Given the description of an element on the screen output the (x, y) to click on. 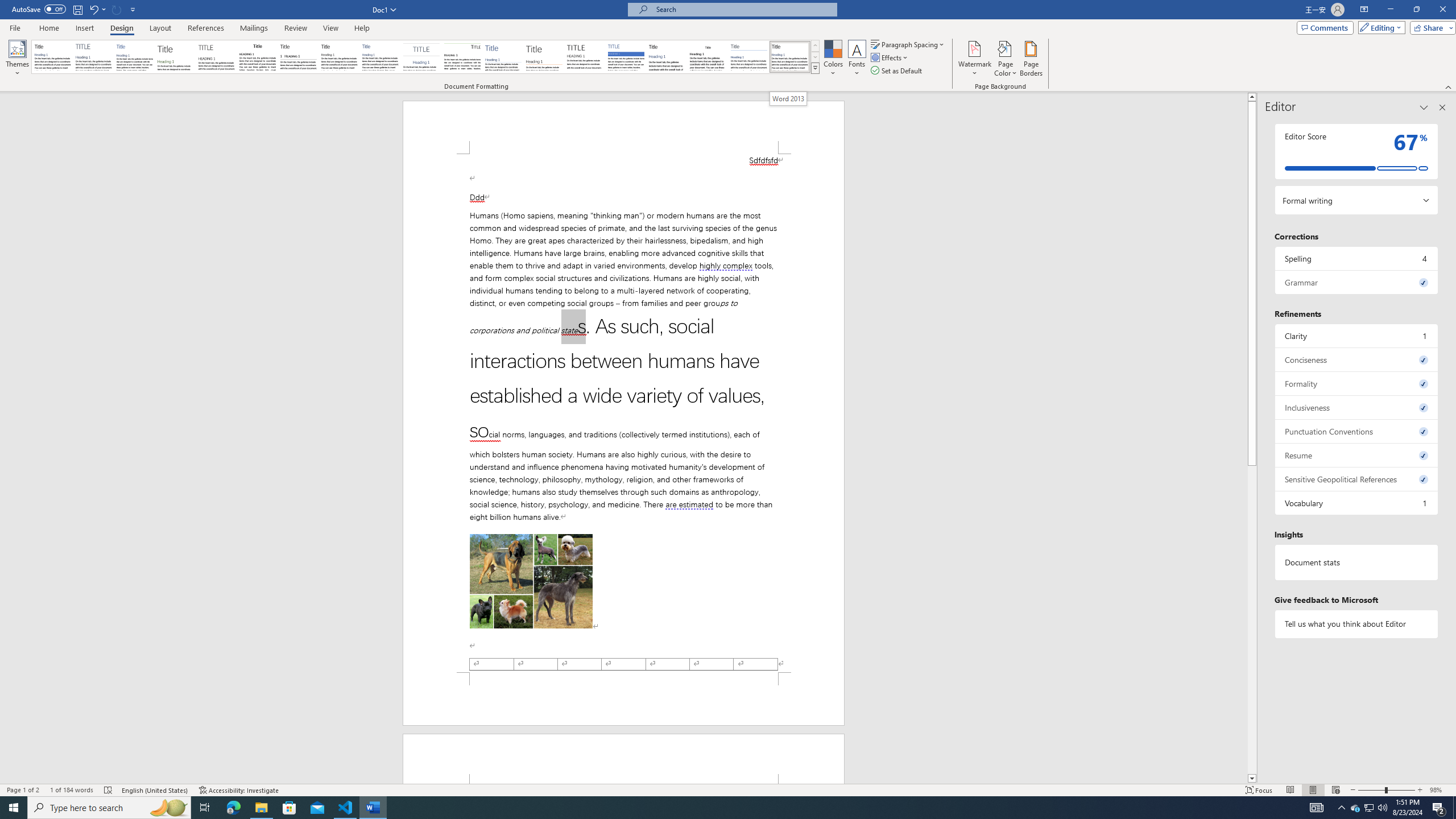
Page Color (1005, 58)
Word 2003 (707, 56)
Black & White (Classic) (257, 56)
Undo Apply Quick Style Set (96, 9)
Word 2013 (790, 56)
Editor Score 67% (1356, 151)
Grammar, 0 issues. Press space or enter to review items. (1356, 282)
Lines (Distinctive) (462, 56)
Footer -Section 1- (623, 698)
Undo Apply Quick Style Set (92, 9)
